Given the description of an element on the screen output the (x, y) to click on. 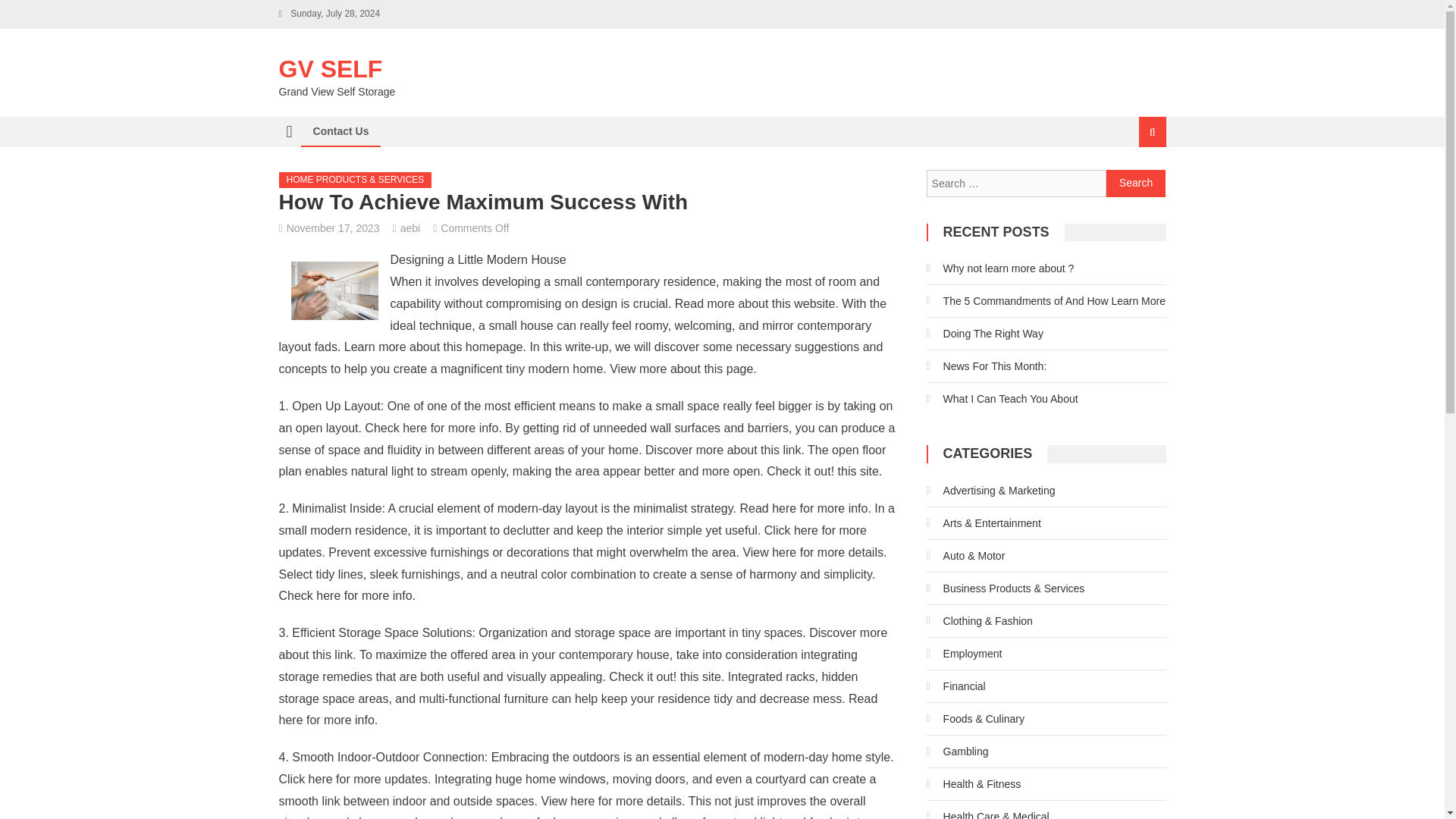
Doing The Right Way (984, 333)
GV SELF (330, 68)
Search (1136, 183)
What I Can Teach You About (1002, 398)
Search (1133, 182)
News For This Month: (986, 365)
aebi (410, 227)
November 17, 2023 (333, 227)
Why not learn more about ? (1000, 268)
Contact Us (340, 131)
The 5 Commandments of And How Learn More (1046, 300)
Search (1136, 183)
Search (1136, 183)
